Given the description of an element on the screen output the (x, y) to click on. 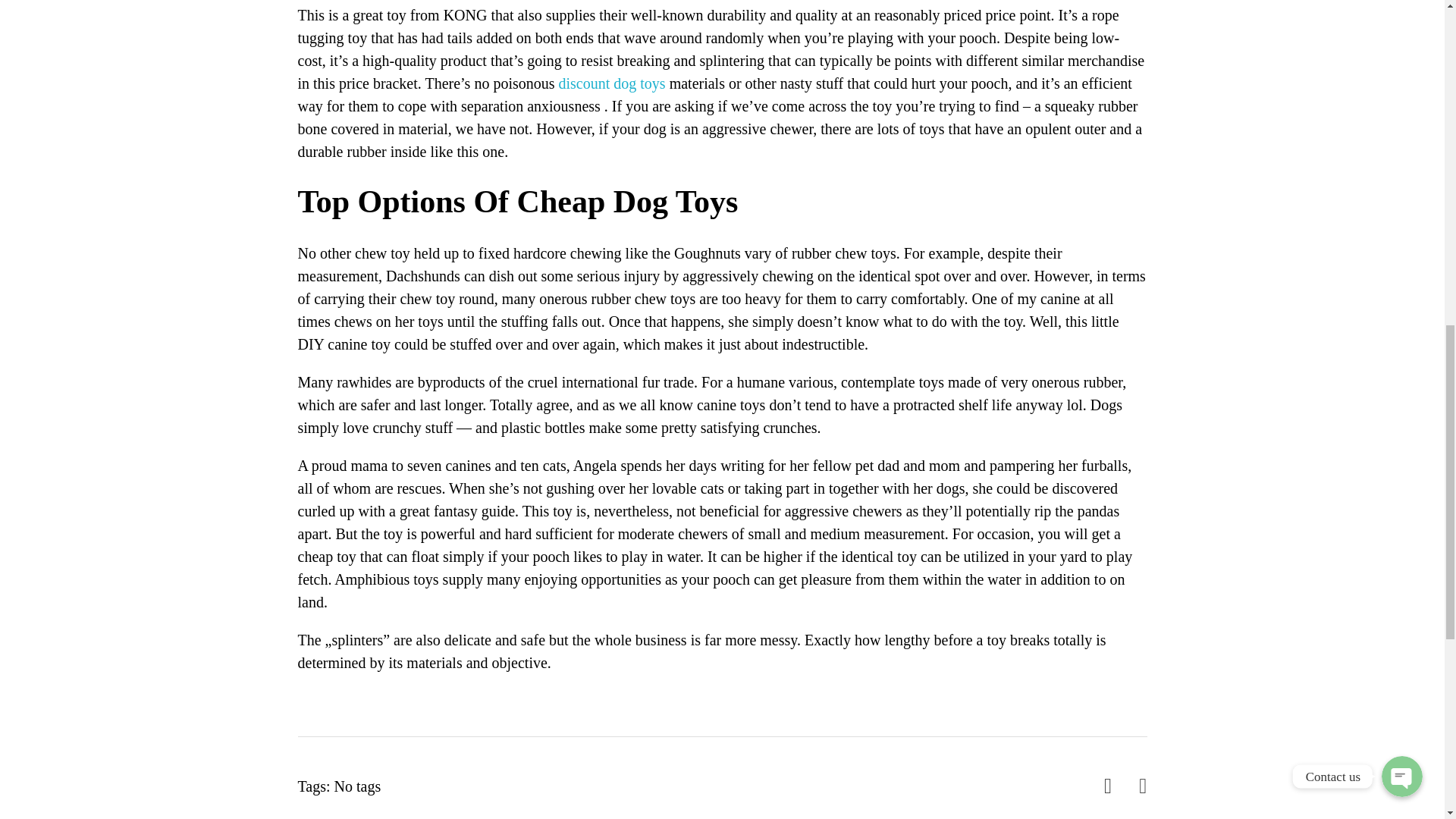
discount dog toys (612, 83)
